Given the description of an element on the screen output the (x, y) to click on. 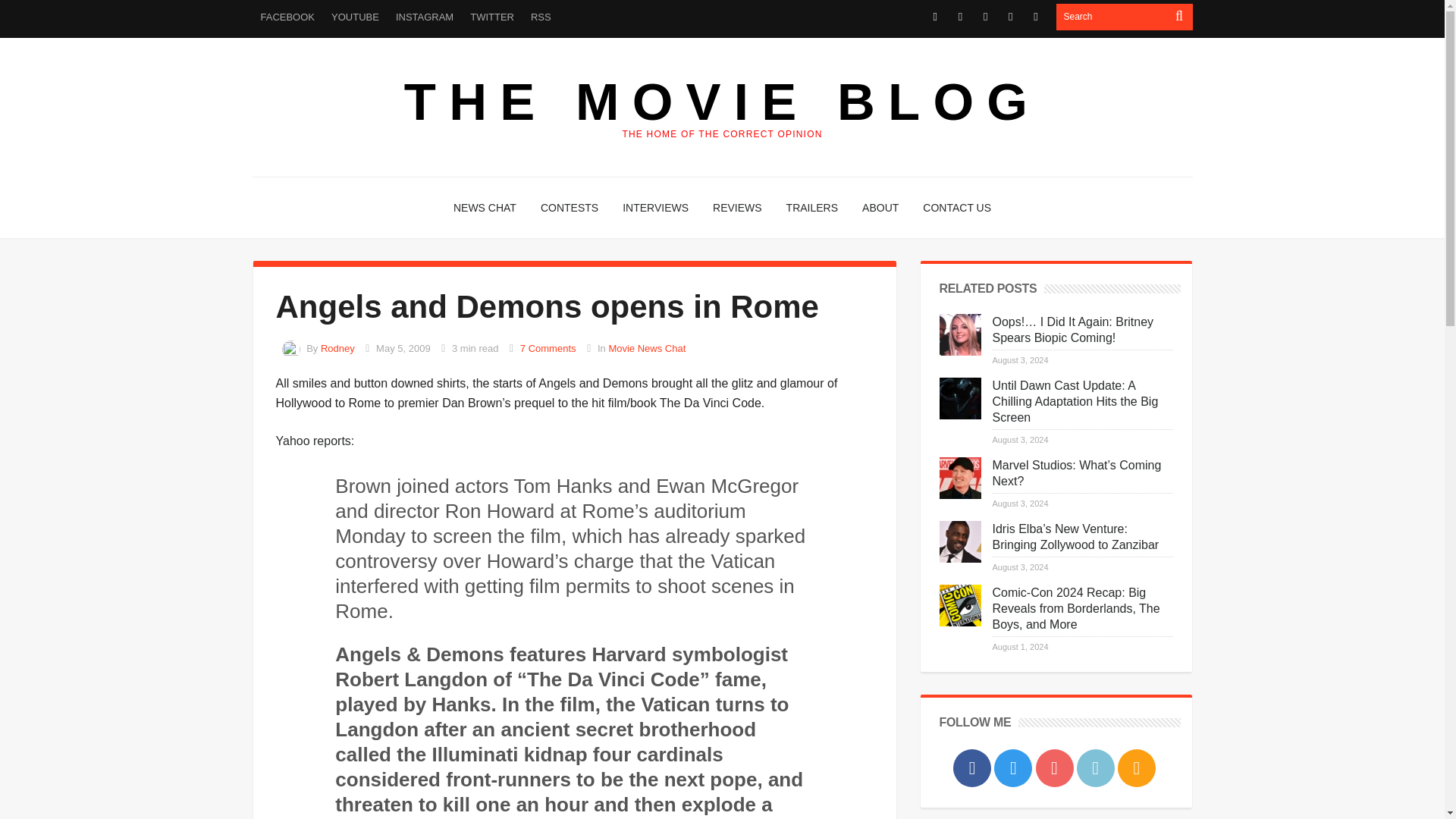
INSTAGRAM (424, 17)
Search (1111, 17)
THE MOVIE BLOG (722, 101)
Twitter (960, 16)
Reddit (1010, 16)
NEWS CHAT (484, 207)
CONTESTS (568, 207)
Rss (1035, 16)
Search (1111, 17)
Youtube (984, 16)
